Given the description of an element on the screen output the (x, y) to click on. 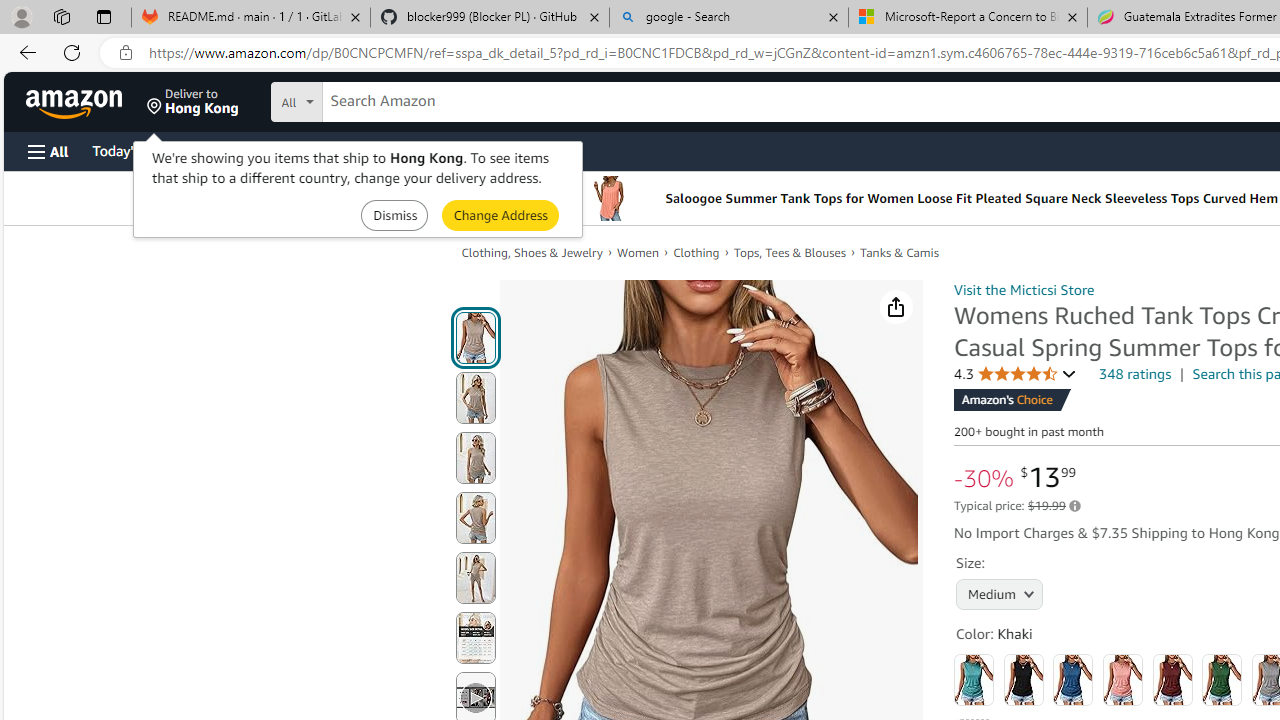
Search in (371, 99)
Green (1222, 679)
Visit the Micticsi Store (1023, 289)
Share (896, 307)
Learn more about Amazon pricing and savings (1074, 506)
AutomationID: native_dropdown_selected_size_name (999, 592)
Dark Red (1172, 679)
Clothing (696, 251)
Black (1023, 679)
Clothing, Shoes & Jewelry (531, 251)
Women (638, 251)
